Given the description of an element on the screen output the (x, y) to click on. 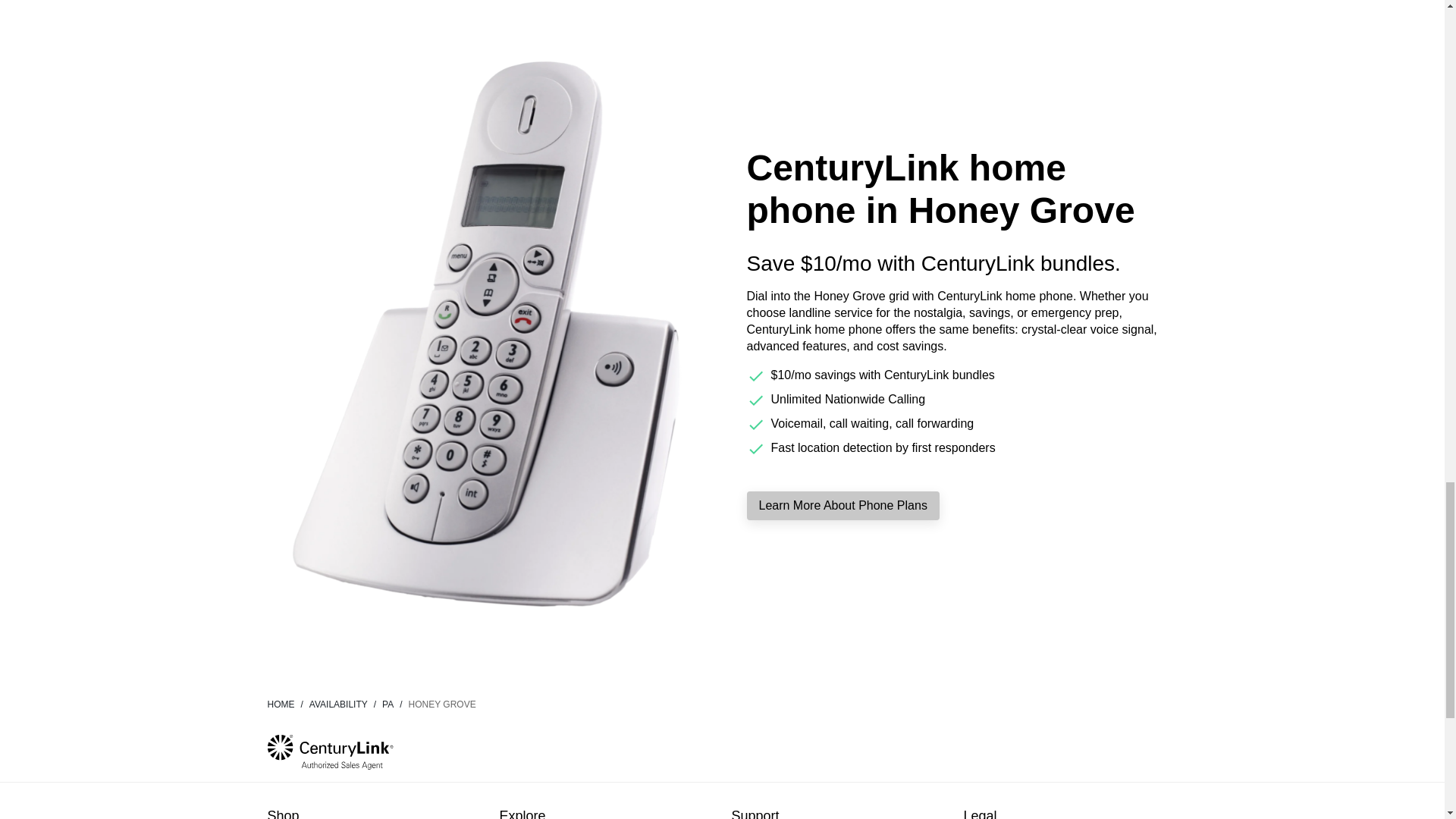
Learn More About Phone Plans (842, 505)
HOME (287, 704)
